Given the description of an element on the screen output the (x, y) to click on. 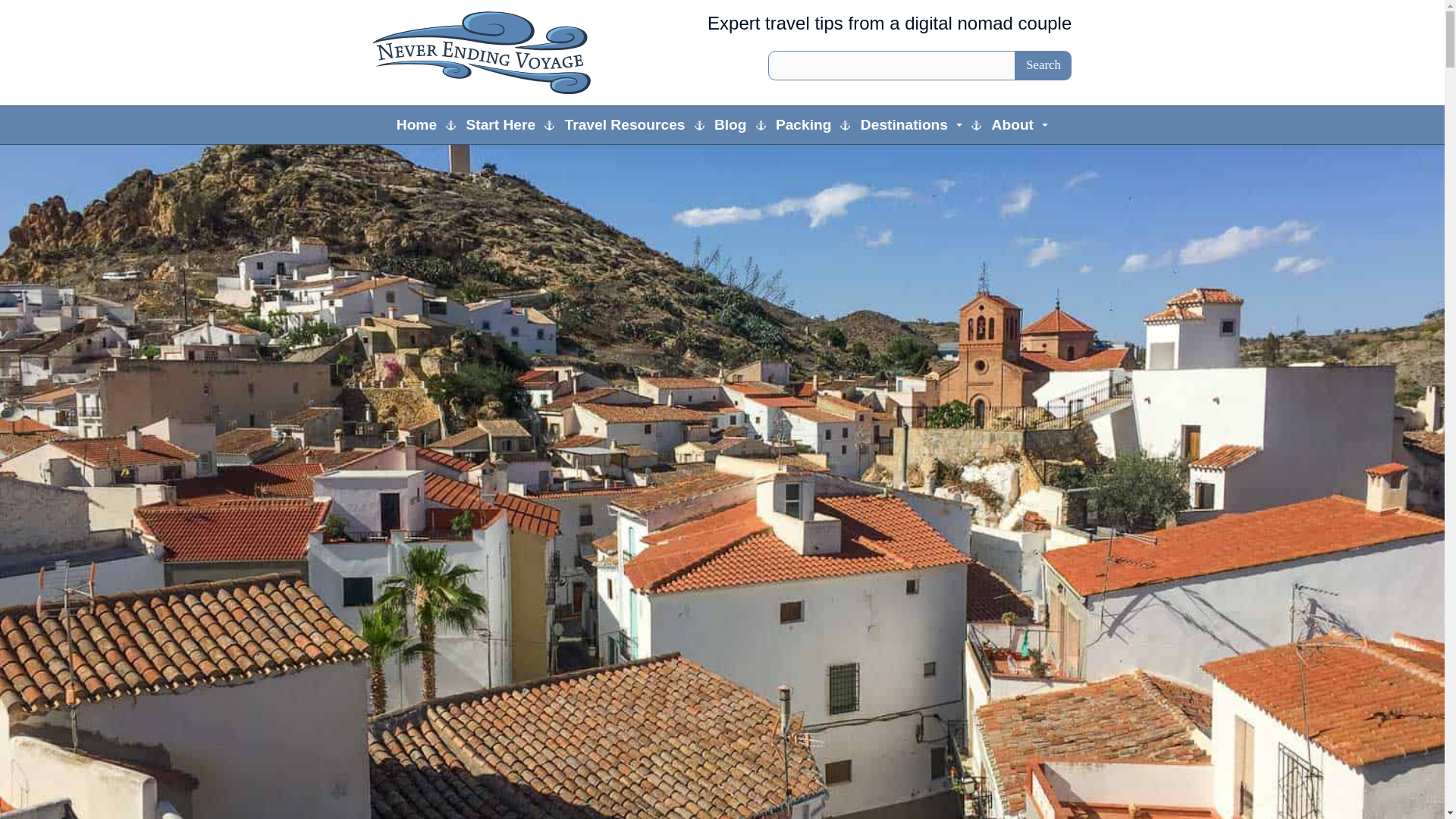
Travel Resources (624, 125)
Packing (803, 125)
Never Ending Voyage (483, 53)
Search (1042, 64)
Home (416, 125)
Never Ending Voyage (483, 53)
Start Here (500, 125)
Destinations (910, 125)
Search (1042, 64)
Blog (730, 125)
